Given the description of an element on the screen output the (x, y) to click on. 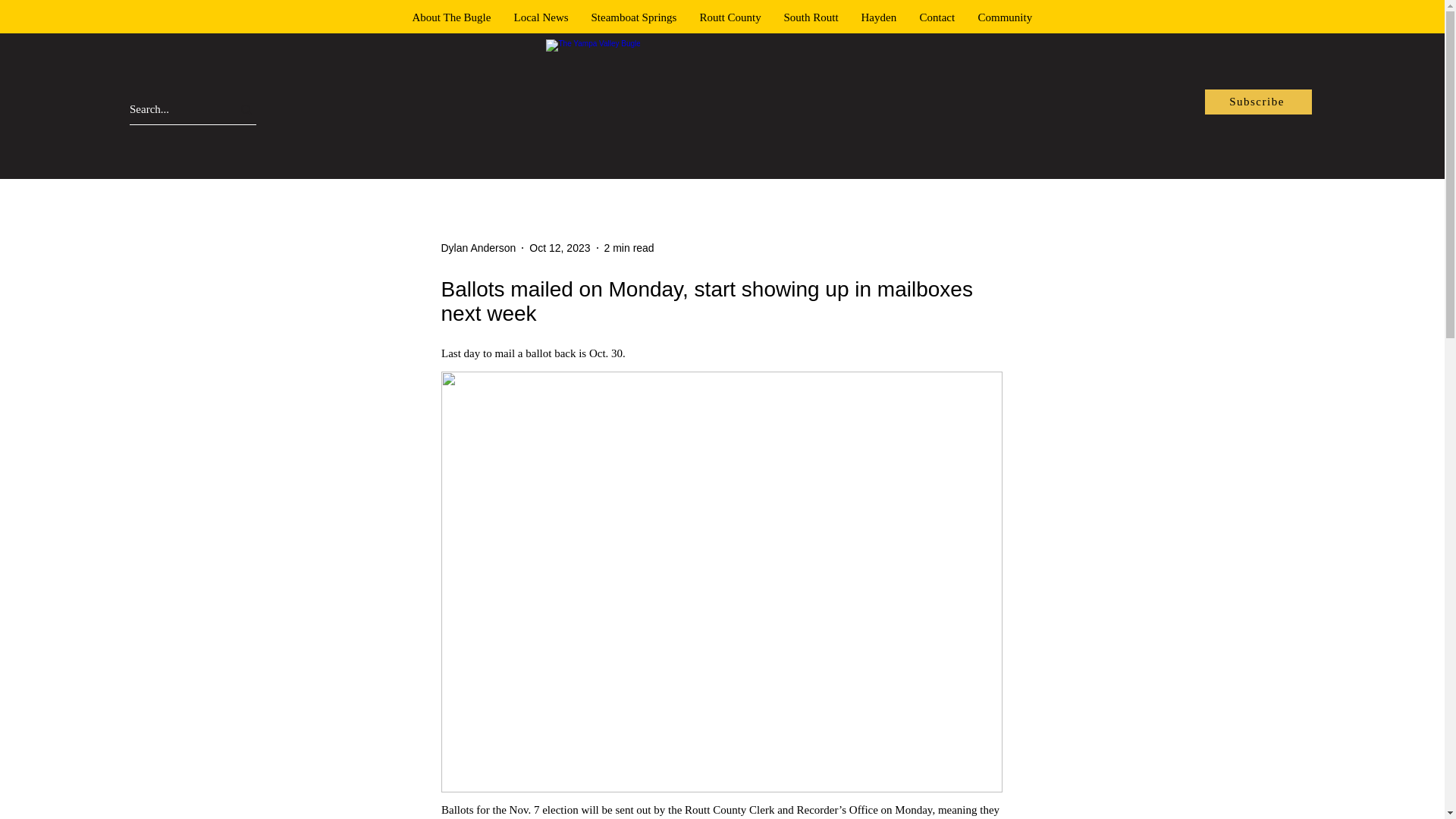
Local News (540, 17)
South Routt (809, 17)
Routt County (730, 17)
Hayden (877, 17)
Steamboat Springs (633, 17)
Dylan Anderson (478, 247)
Community (1004, 17)
Contact (937, 17)
About The Bugle (451, 17)
Subscribe (1258, 101)
